Given the description of an element on the screen output the (x, y) to click on. 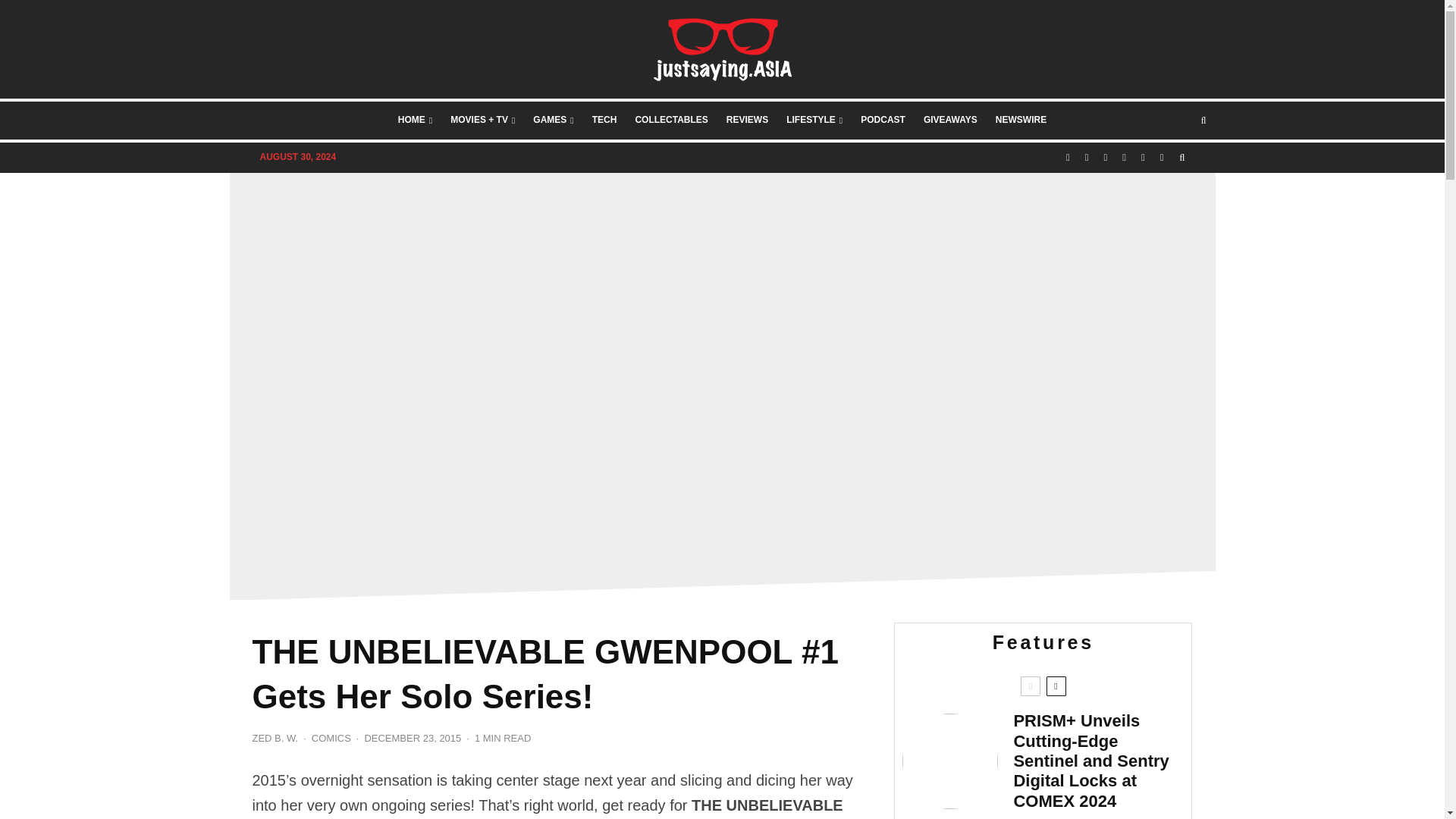
TECH (604, 120)
GAMES (553, 120)
HOME (414, 120)
